Given the description of an element on the screen output the (x, y) to click on. 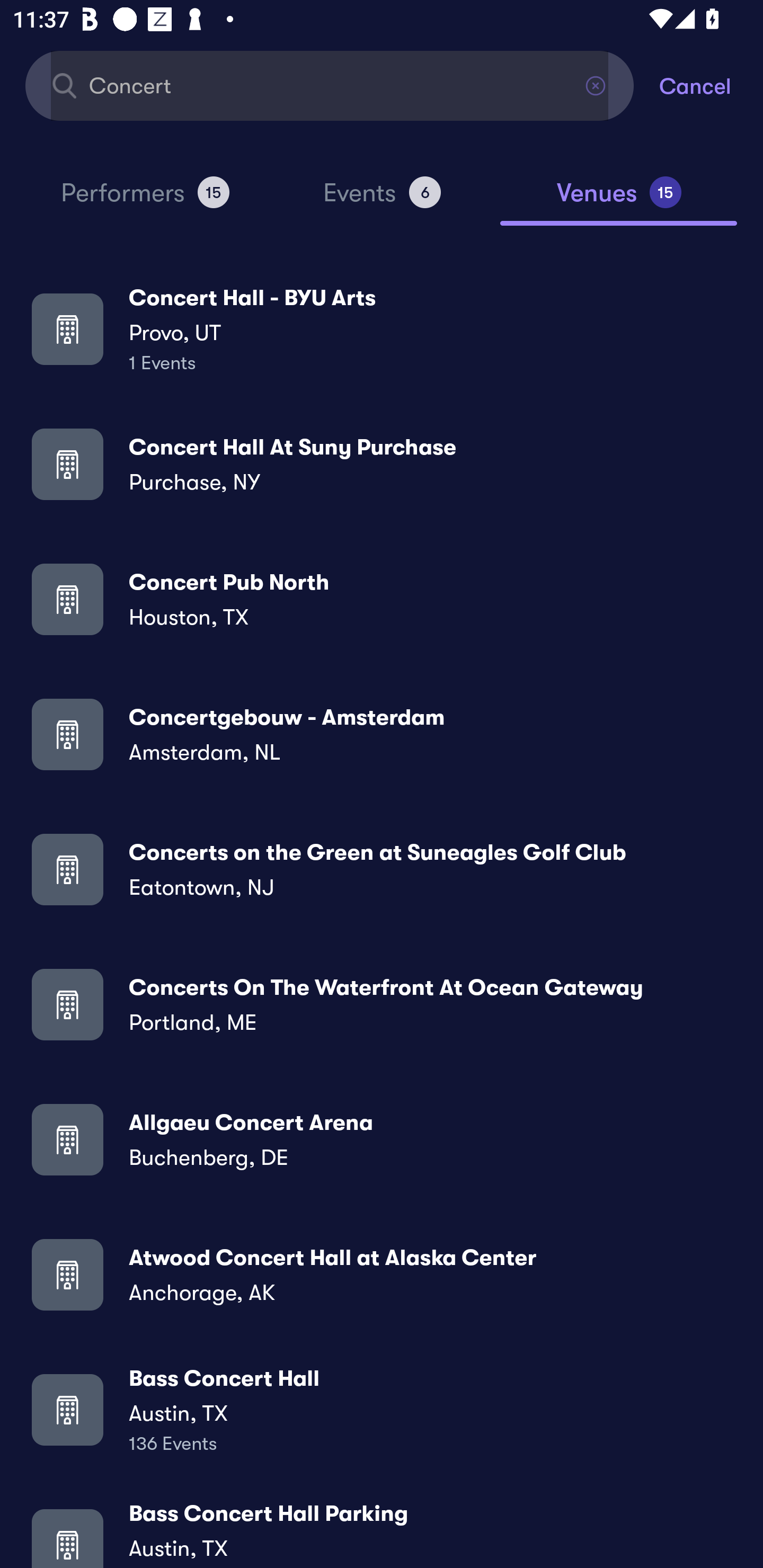
Concert Find (329, 85)
Concert Find (329, 85)
Cancel (711, 85)
Performers 15 (144, 200)
Events 6 (381, 200)
Venues 15 (618, 200)
Concert Hall - BYU Arts Provo, UT 1 Events (381, 328)
Concert Hall At Suny Purchase Purchase, NY (381, 464)
Concert Pub North Houston, TX (381, 598)
Concertgebouw - Amsterdam Amsterdam, NL (381, 734)
Allgaeu Concert Arena Buchenberg, DE (381, 1138)
Atwood Concert Hall at Alaska Center Anchorage, AK (381, 1273)
Bass Concert Hall Austin, TX 136 Events (381, 1409)
Bass Concert Hall Parking Austin, TX 56 Events (381, 1532)
